Given the description of an element on the screen output the (x, y) to click on. 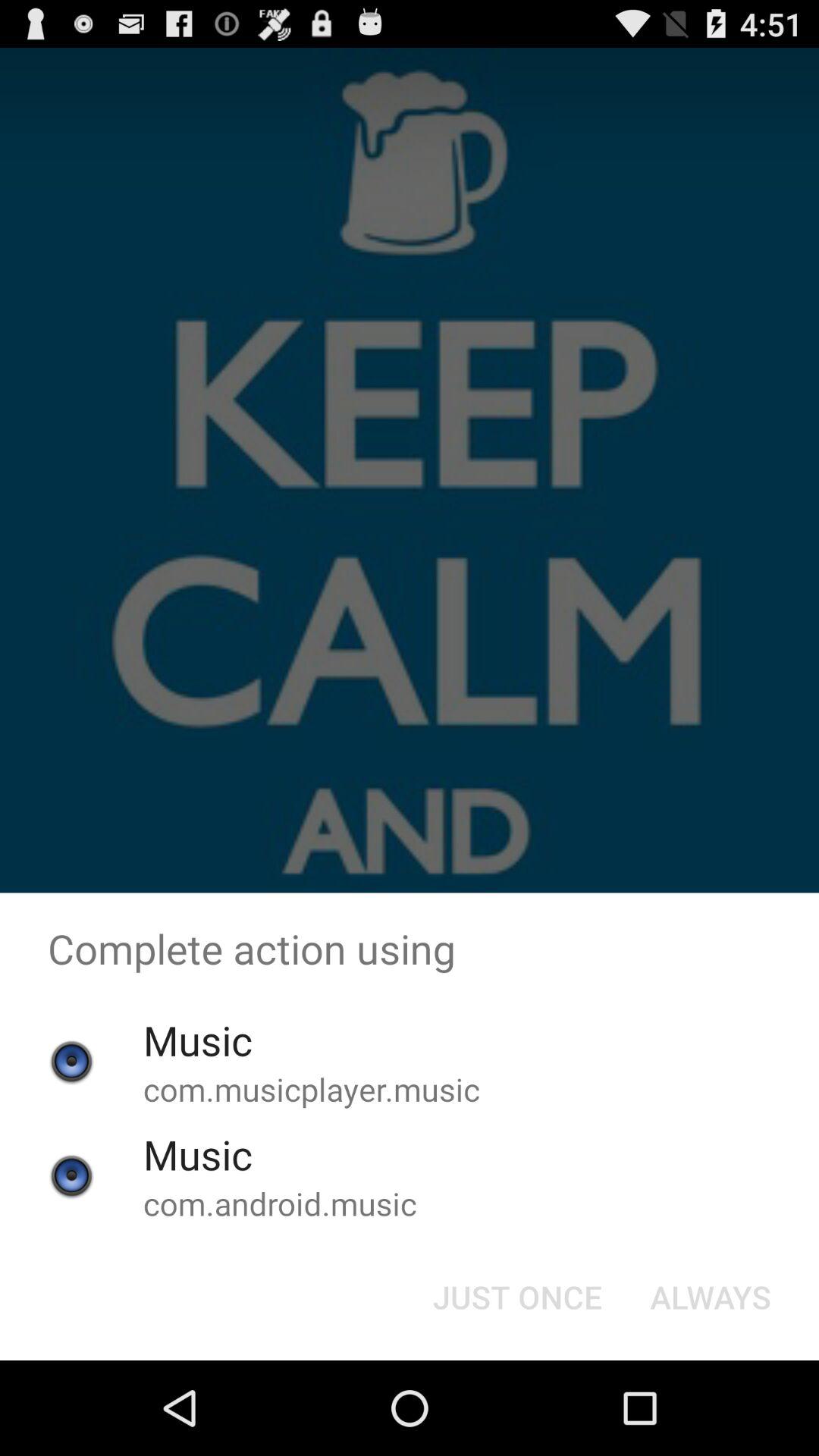
press the button at the bottom right corner (710, 1296)
